Given the description of an element on the screen output the (x, y) to click on. 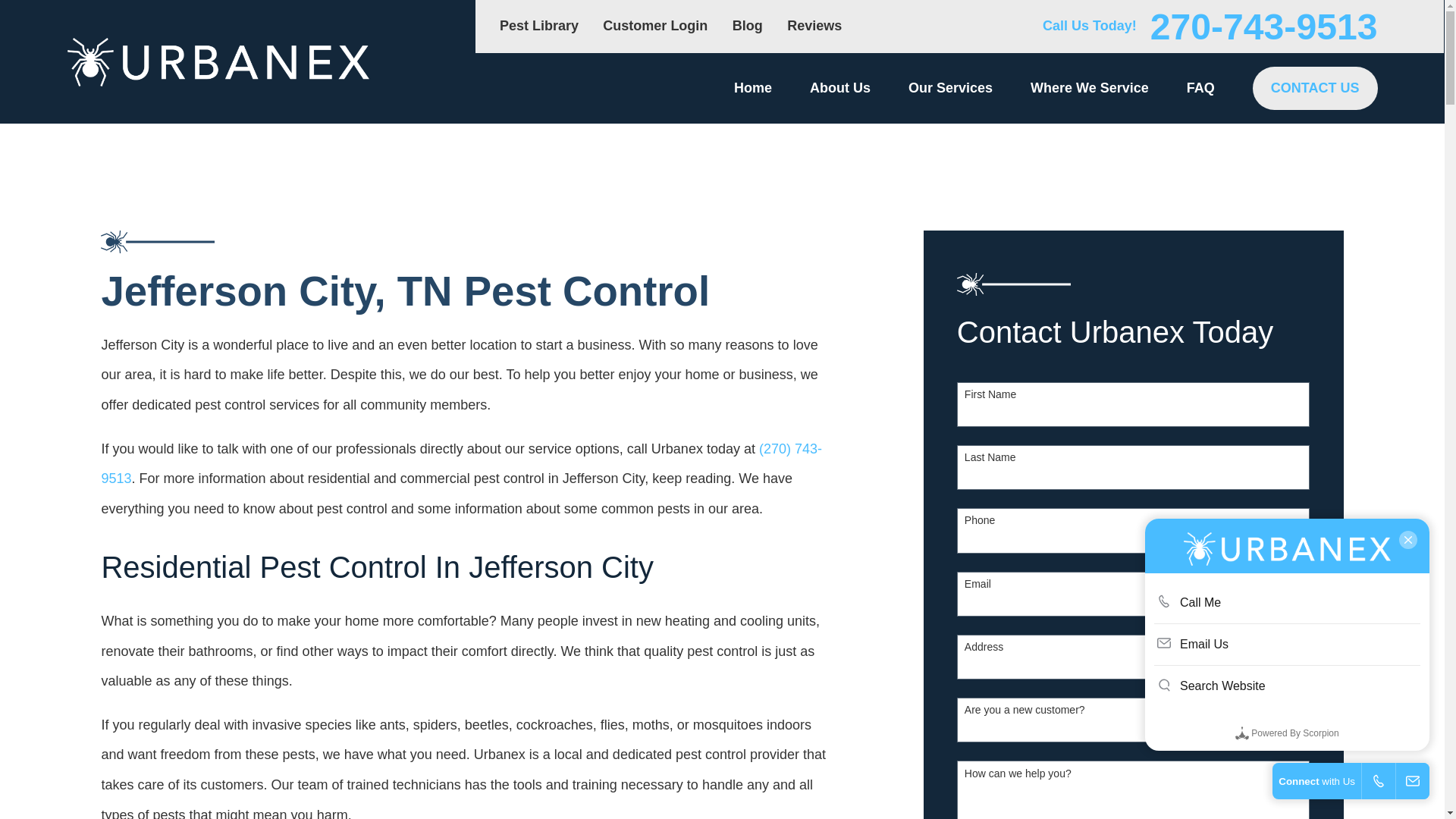
Our Services (950, 88)
FAQ (1200, 88)
Where We Service (1089, 88)
Blog (747, 25)
About Us (839, 88)
Customer Login (654, 25)
Home (752, 88)
Home (217, 61)
270-743-9513 (1263, 26)
Reviews (814, 25)
Pest Library (538, 25)
